Given the description of an element on the screen output the (x, y) to click on. 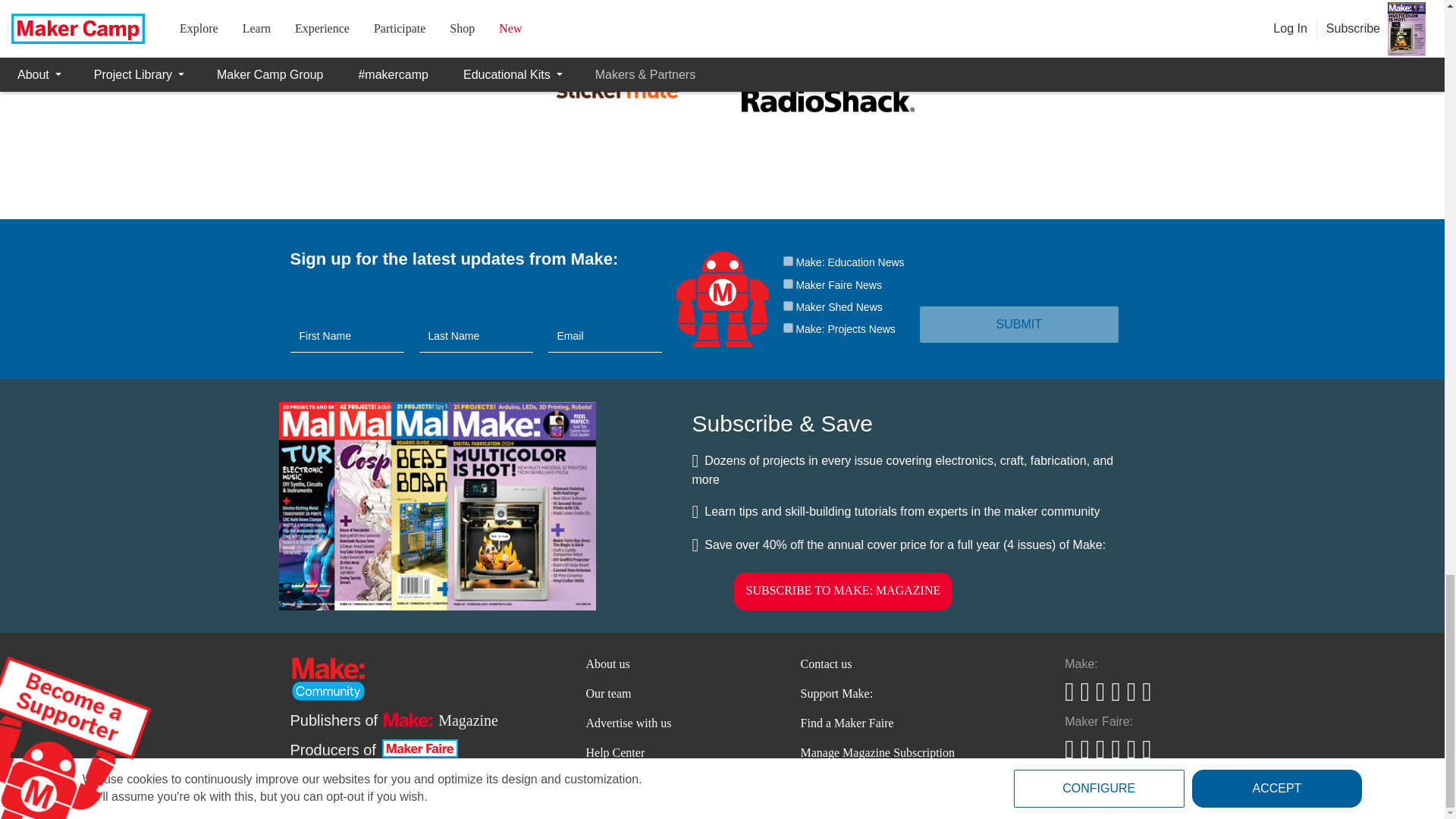
Maker Shed News (787, 306)
Make: Education News (787, 261)
Maker Faire News (787, 284)
Make: Projects News (787, 327)
